Given the description of an element on the screen output the (x, y) to click on. 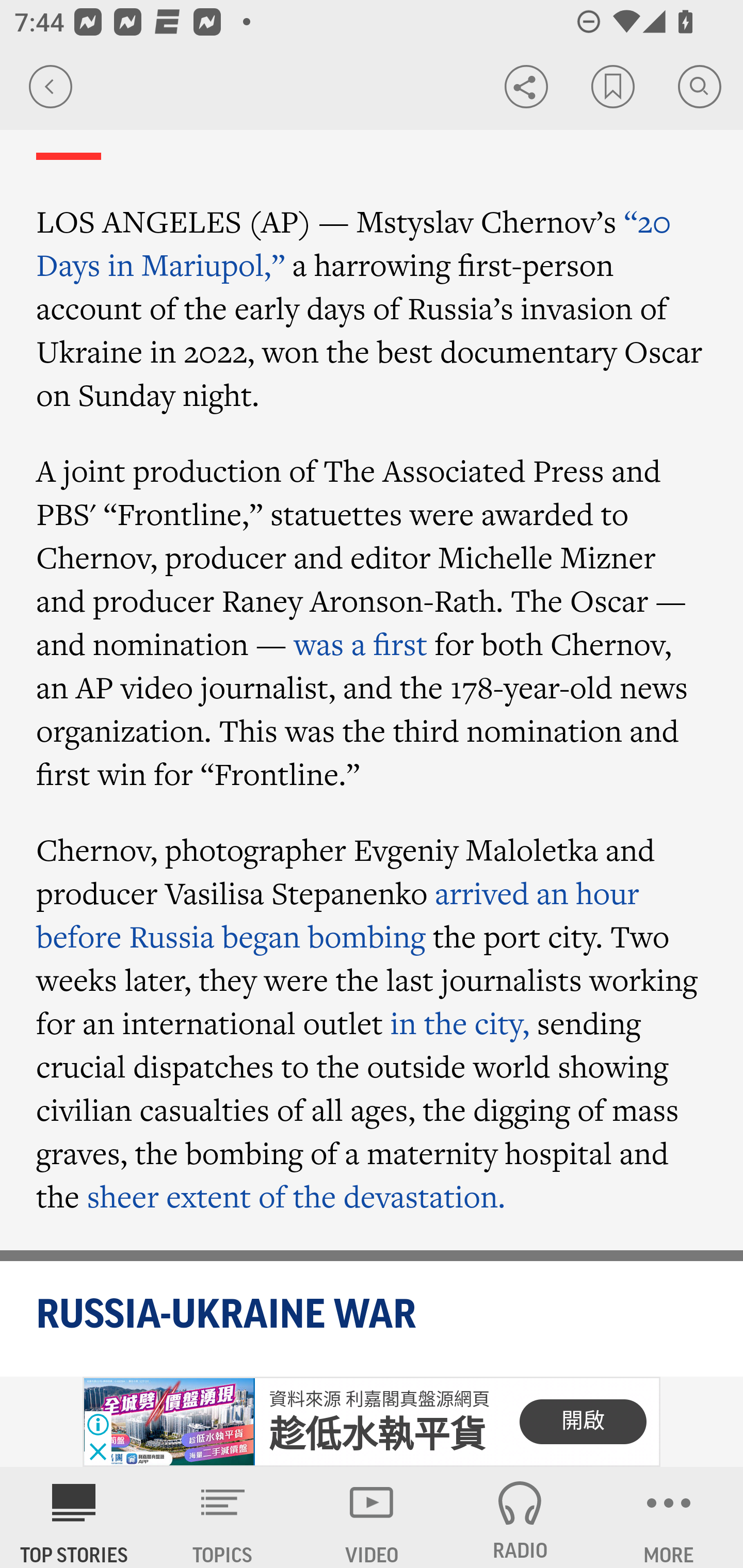
“20 Days in Mariupol,” (353, 242)
was a first (359, 643)
arrived an hour before Russia began bombing (338, 914)
in the city, (460, 1022)
sheer extent of the devastation. (295, 1196)
RUSSIA-UKRAINE WAR (372, 1315)
B29121719 (168, 1421)
資料來源 利嘉閣真盤源網頁 (379, 1399)
開啟 (582, 1421)
趁低水執平貨 (377, 1435)
AP News TOP STORIES (74, 1517)
TOPICS (222, 1517)
VIDEO (371, 1517)
RADIO (519, 1517)
MORE (668, 1517)
